Given the description of an element on the screen output the (x, y) to click on. 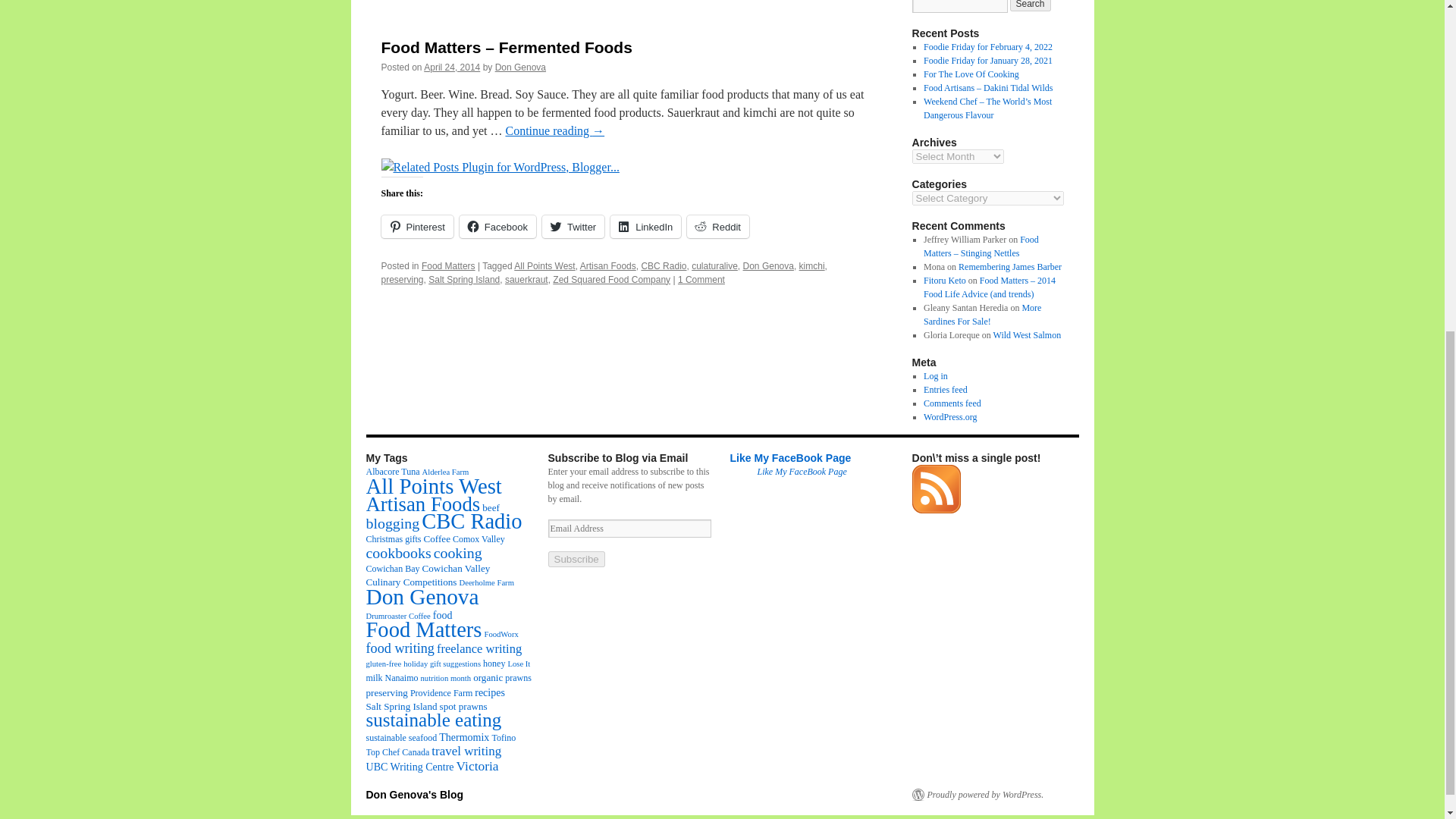
Twitter (572, 226)
Reddit (718, 226)
Facebook (497, 226)
4:37 pm (451, 67)
Search (1030, 5)
Pinterest (416, 226)
April 24, 2014 (451, 67)
Click to share on Pinterest (416, 226)
Click to share on Twitter (572, 226)
Don Genova (520, 67)
Click to share on LinkedIn (645, 226)
Artisan Foods (607, 266)
View all posts by Don Genova (520, 67)
All Points West (544, 266)
Food Matters (449, 266)
